Given the description of an element on the screen output the (x, y) to click on. 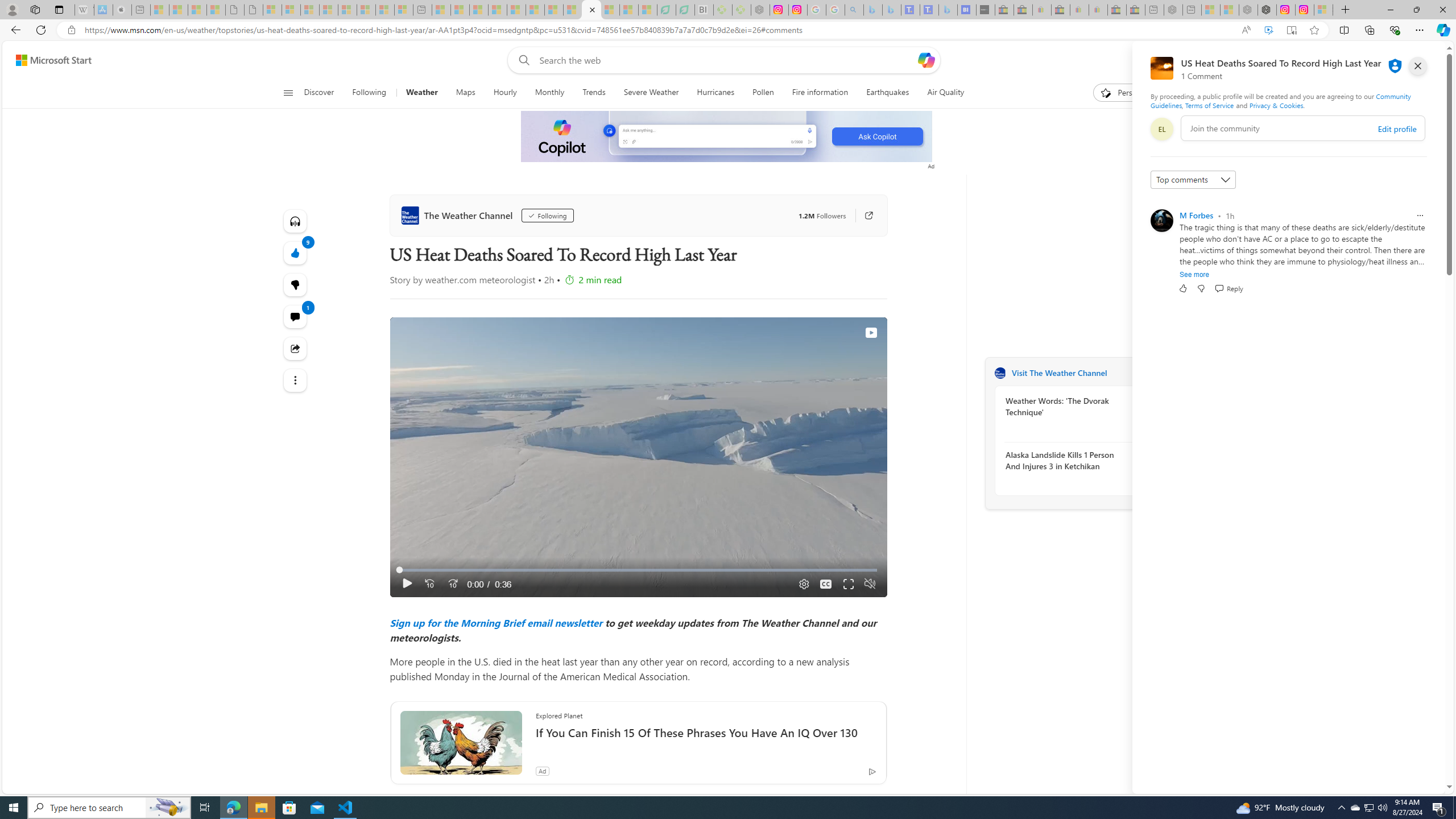
Class: button-glyph (287, 92)
9 (295, 284)
Fire information (820, 92)
Microsoft Services Agreement - Sleeping (290, 9)
Press Room - eBay Inc. - Sleeping (1116, 9)
Sign in to your Microsoft account - Sleeping (1323, 9)
Nordace - Summer Adventures 2024 (1267, 9)
